Given the description of an element on the screen output the (x, y) to click on. 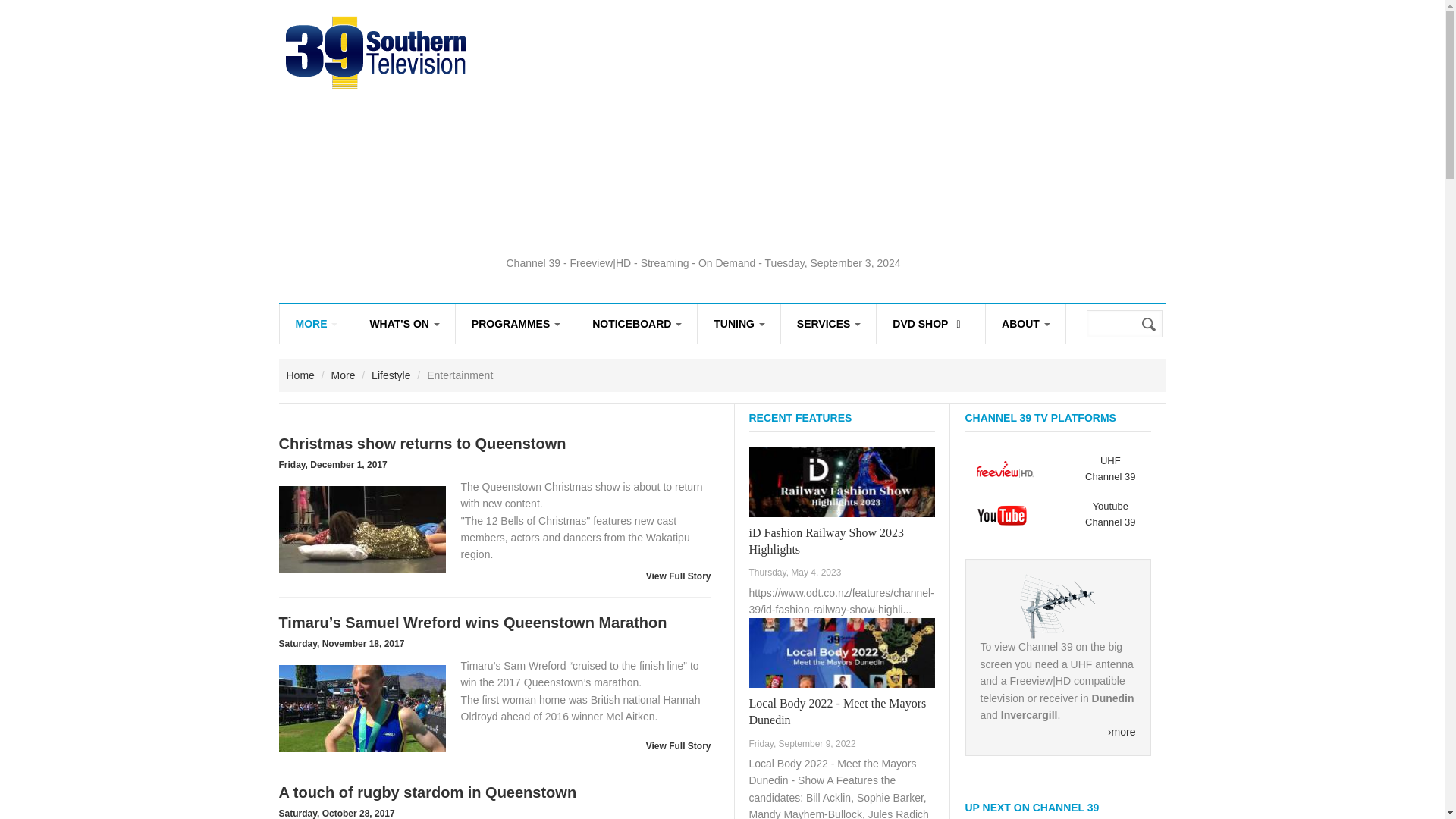
Home (376, 50)
Enter the terms you wish to search for. (1123, 323)
PROGRAMMES (515, 323)
Search (1149, 324)
WHAT'S ON (403, 323)
MORE (315, 323)
A touch of rugby stardom in Queenstown  (362, 817)
12 bells of Christmas  (362, 529)
